Given the description of an element on the screen output the (x, y) to click on. 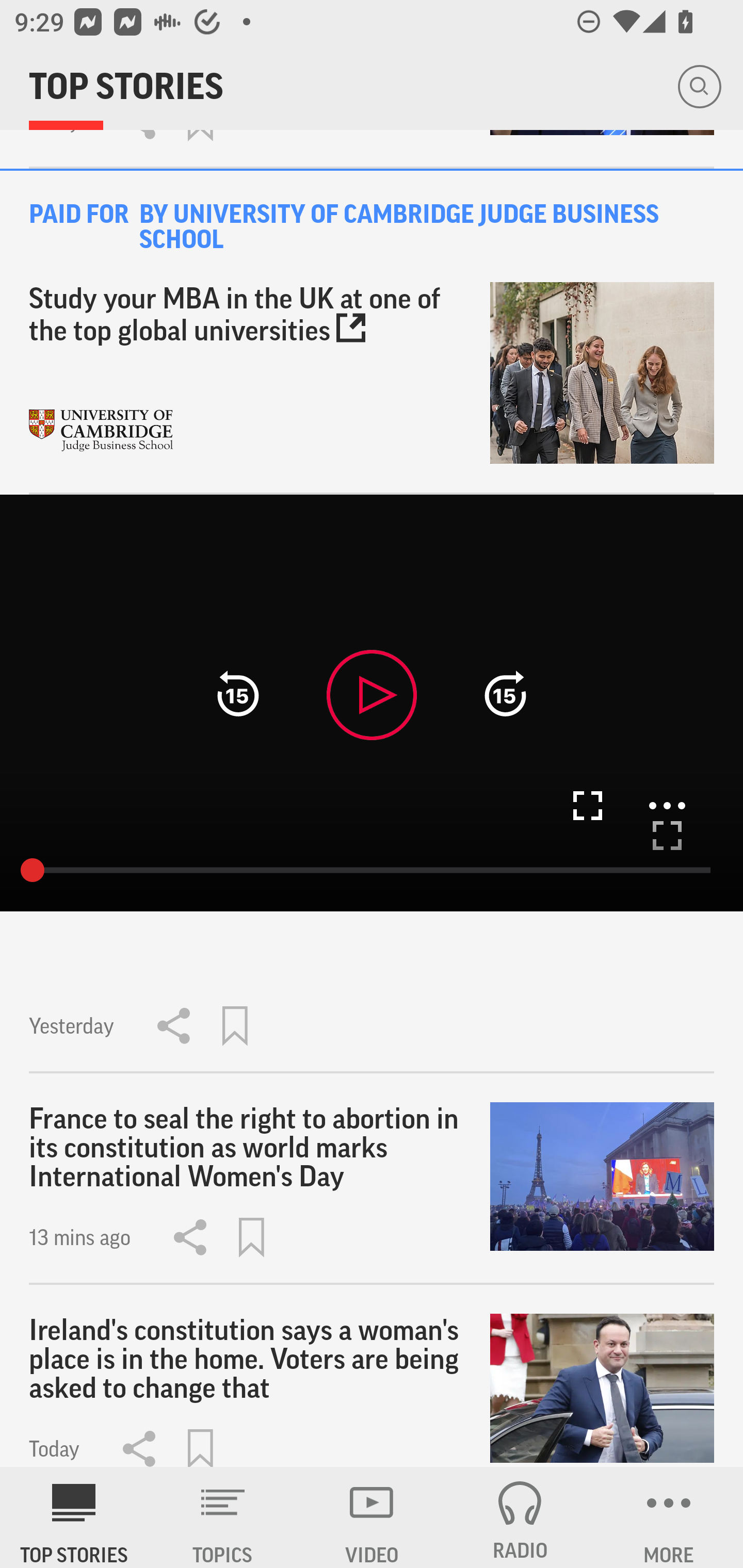
Rewind 15 seconds (238, 694)
Play (371, 694)
fast forward 15 seconds (504, 694)
Fullscreen (587, 805)
Fullscreen (666, 835)
AP News TOP STORIES (74, 1517)
TOPICS (222, 1517)
VIDEO (371, 1517)
RADIO (519, 1517)
MORE (668, 1517)
